Given the description of an element on the screen output the (x, y) to click on. 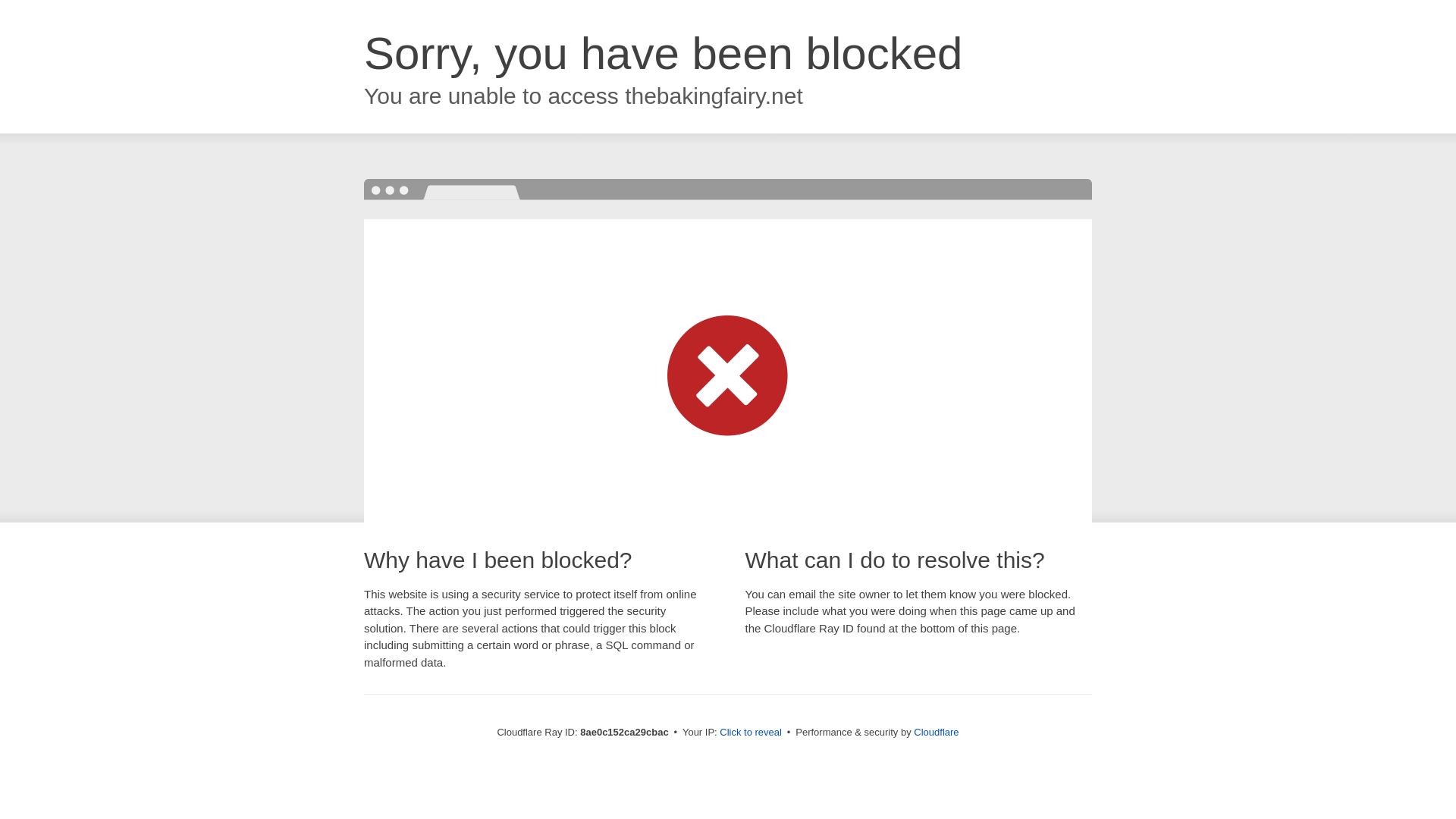
Cloudflare (936, 731)
Click to reveal (750, 732)
